Given the description of an element on the screen output the (x, y) to click on. 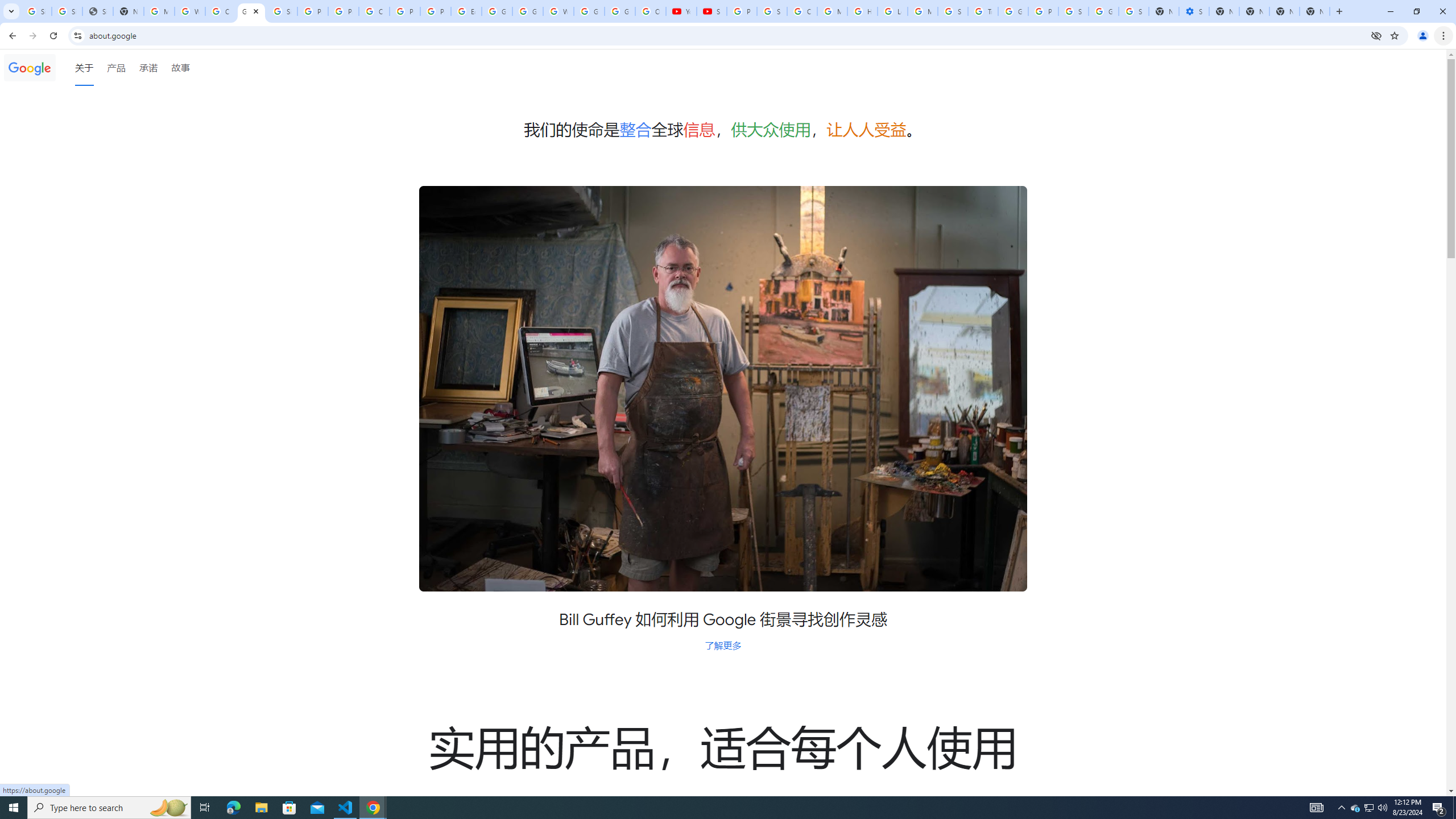
Forward (32, 35)
Edit and view right-to-left text - Google Docs Editors Help (465, 11)
Search tabs (10, 11)
Address and search bar (726, 35)
New Tab (1314, 11)
Trusted Information and Content - Google Safety Center (982, 11)
Restore (1416, 11)
Bookmark this tab (1393, 35)
Back (10, 35)
